Given the description of an element on the screen output the (x, y) to click on. 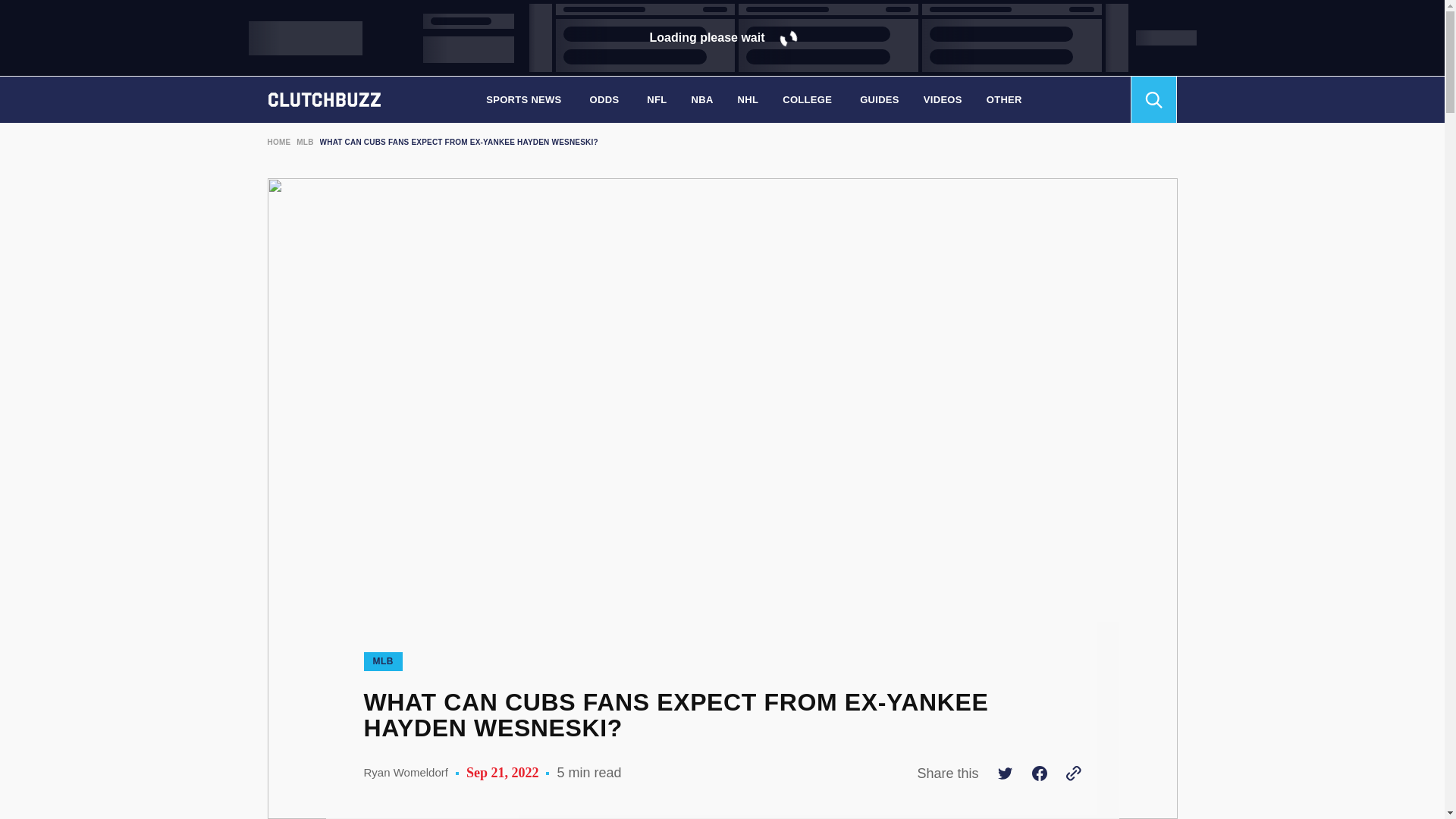
Go to ClutchBet. (277, 142)
logo (323, 38)
SPORTS NEWS (525, 99)
logo (323, 99)
COLLEGE (808, 99)
ODDS (606, 99)
NBA (702, 99)
VIDEOS (942, 99)
OTHER (1006, 99)
NHL (748, 99)
